Given the description of an element on the screen output the (x, y) to click on. 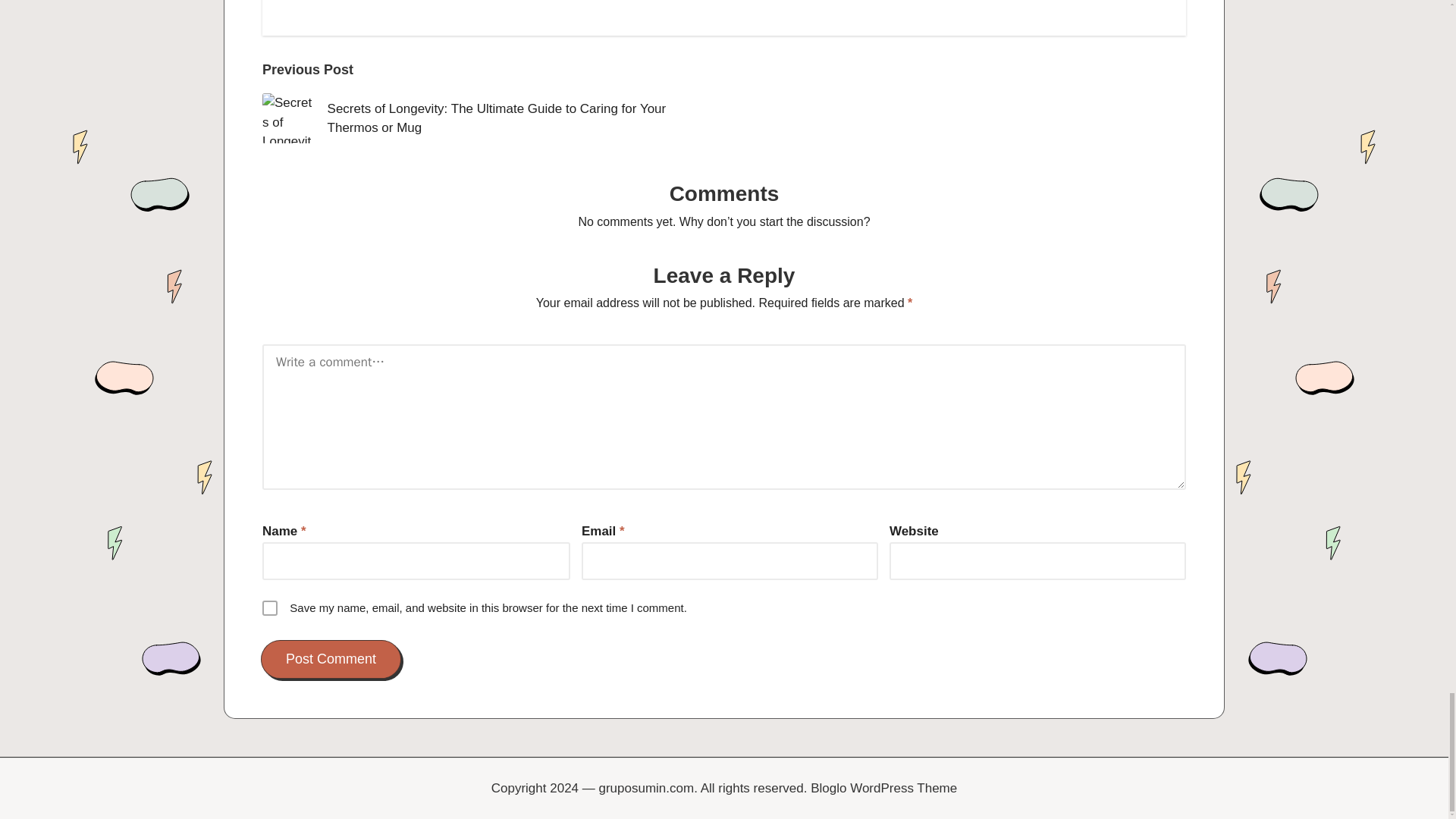
Bloglo WordPress Theme (883, 788)
yes (270, 607)
Post Comment (330, 658)
Post Comment (330, 658)
View All Posts (407, 1)
